Given the description of an element on the screen output the (x, y) to click on. 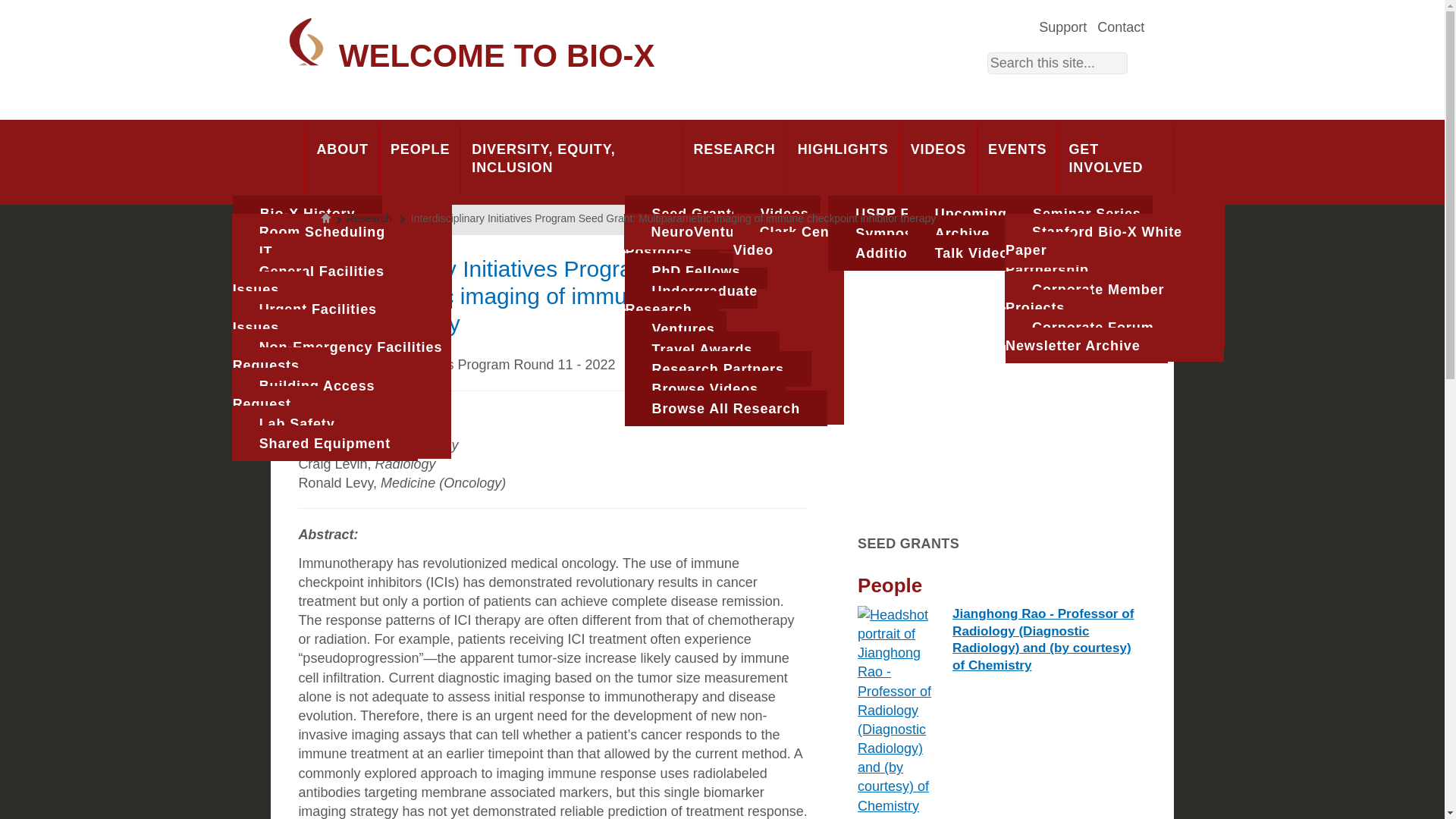
Enter the keywords you wish to search for. (1056, 63)
Browse All Research (726, 407)
DIVERSITY, EQUITY, INCLUSION (571, 159)
Undergraduate Research (691, 299)
PEOPLE (419, 159)
Tours (278, 251)
Clark Center (296, 253)
Ventures (675, 328)
Videos (777, 212)
Urgent Facilities Issues (304, 317)
